Given the description of an element on the screen output the (x, y) to click on. 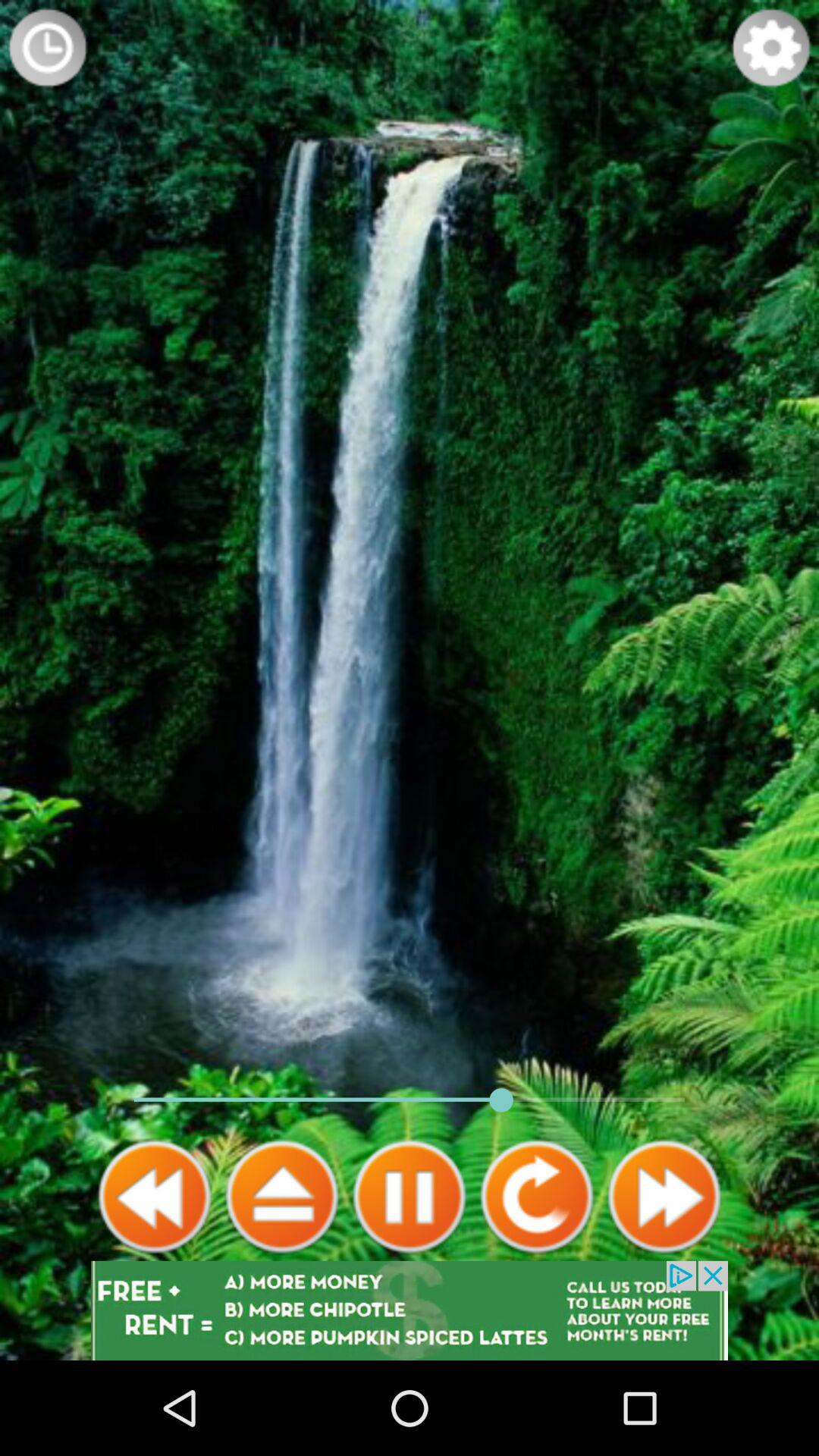
back icone (154, 1196)
